Given the description of an element on the screen output the (x, y) to click on. 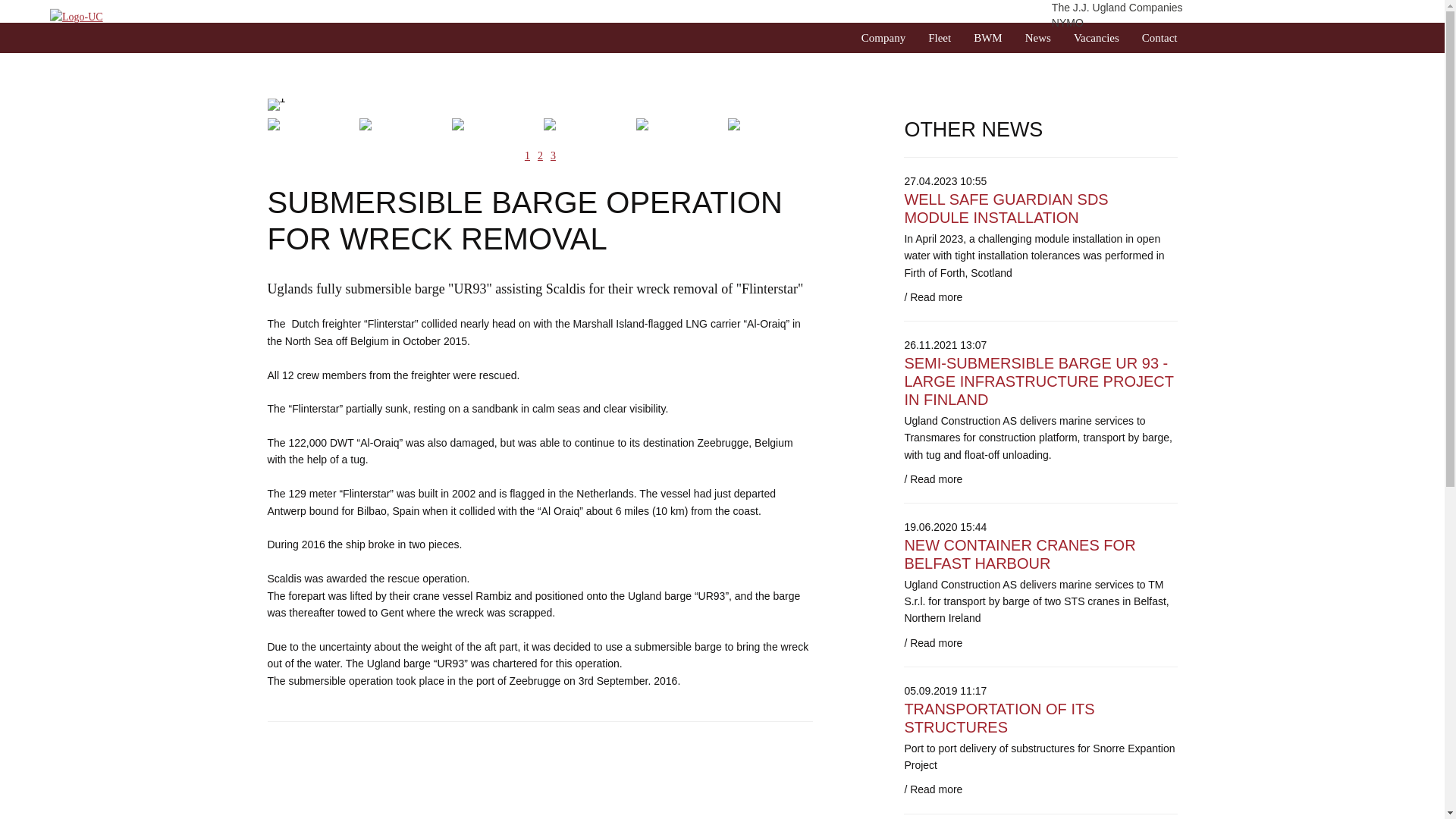
The J.J. Ugland Companies (1217, 7)
Vacancies (1096, 37)
BWM (988, 37)
News (1038, 37)
Fleet (939, 37)
Contact (1159, 37)
Company (883, 37)
NYMO (1217, 22)
